Given the description of an element on the screen output the (x, y) to click on. 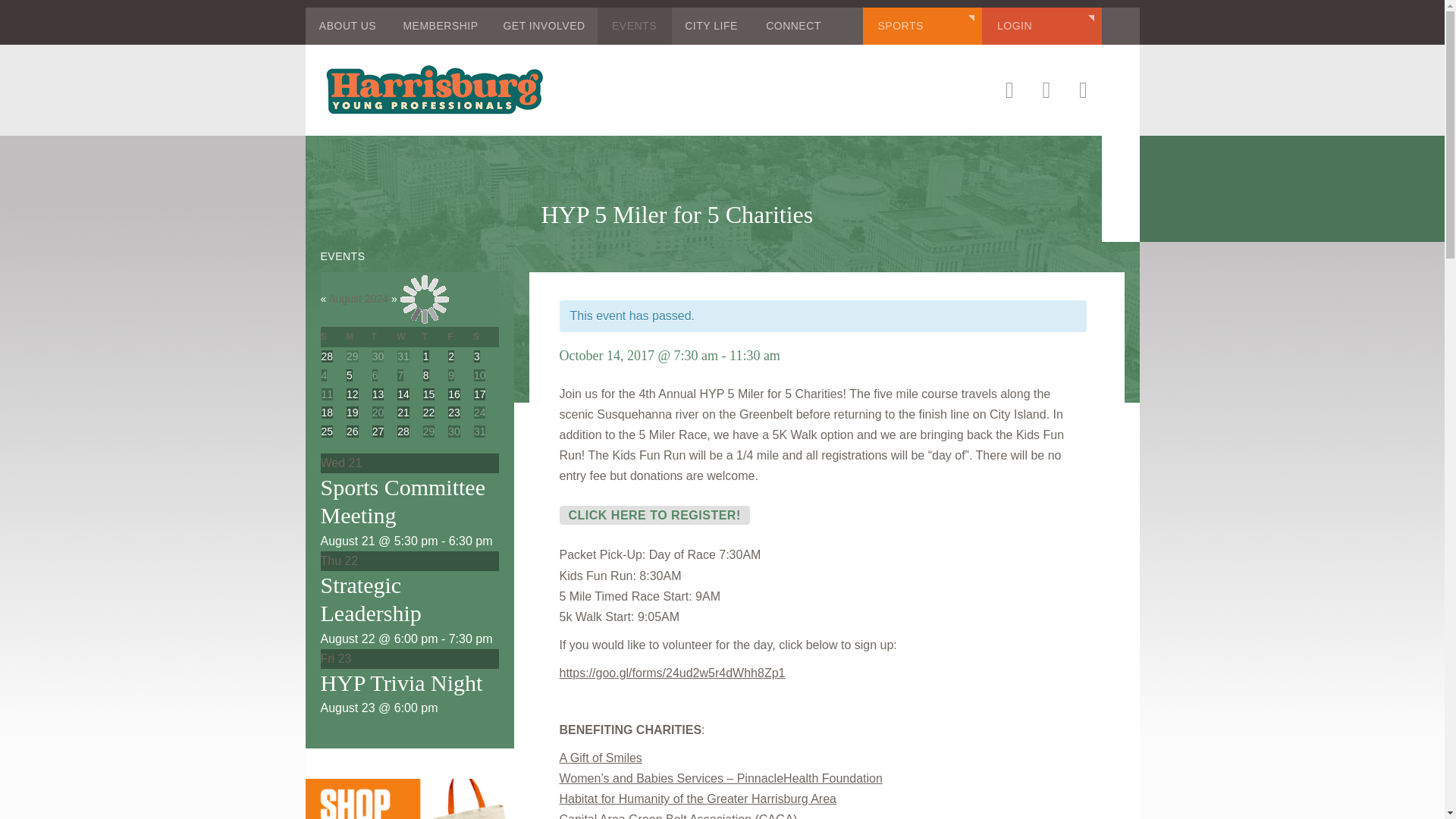
22 (429, 412)
Connect with us on LinkedIn (1045, 90)
Skip to content (40, 16)
SPORTS (922, 26)
LOGIN (1041, 26)
Sports Committee Meeting (402, 501)
Skip to content (40, 16)
12 (352, 394)
MEMBERSHIP (440, 26)
GET INVOLVED (544, 26)
